Given the description of an element on the screen output the (x, y) to click on. 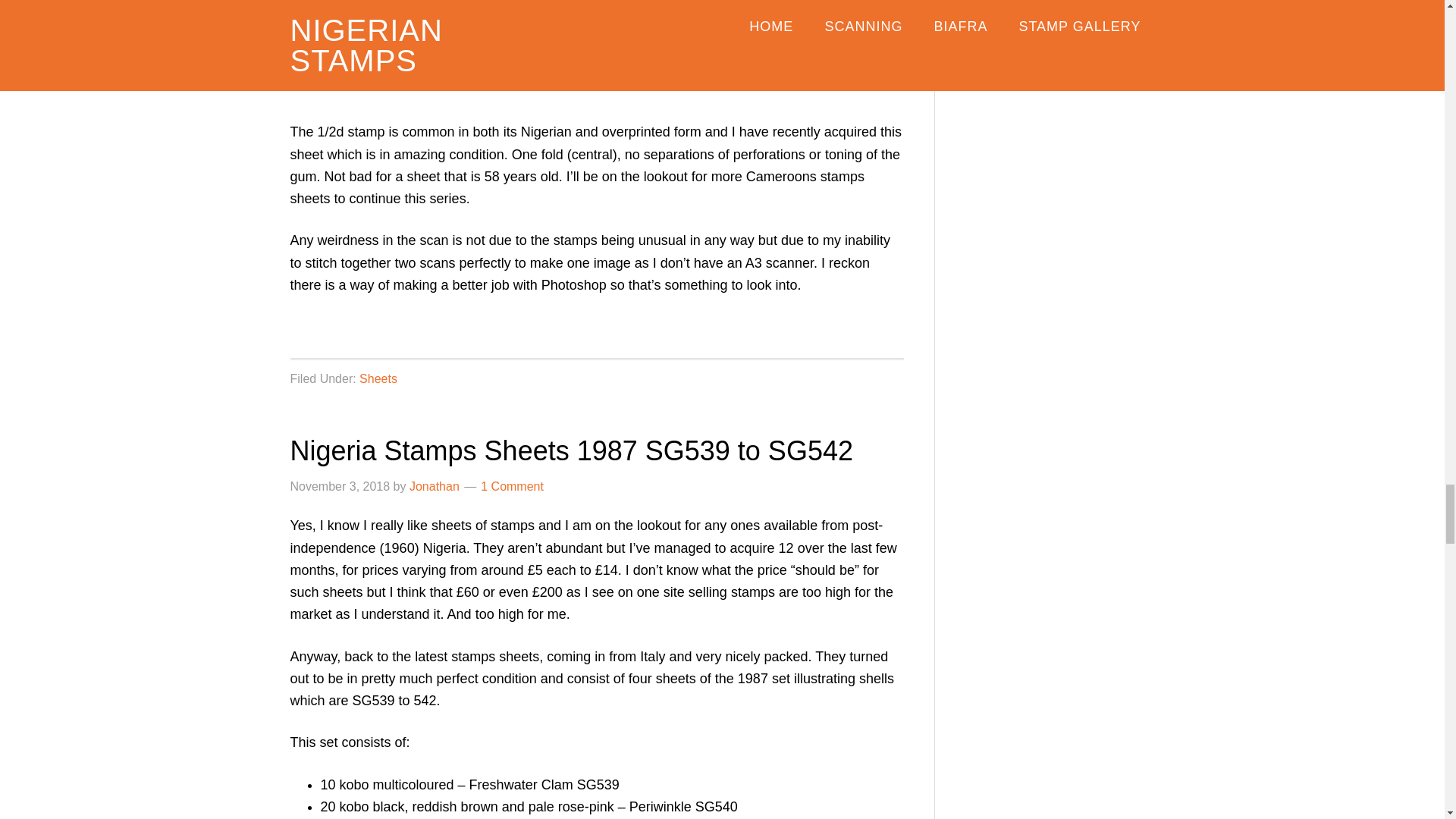
Nigeria Stamps Sheets 1987 SG539 to SG542 (570, 450)
Sheets (378, 378)
Jonathan (434, 486)
1 Comment (511, 486)
